Given the description of an element on the screen output the (x, y) to click on. 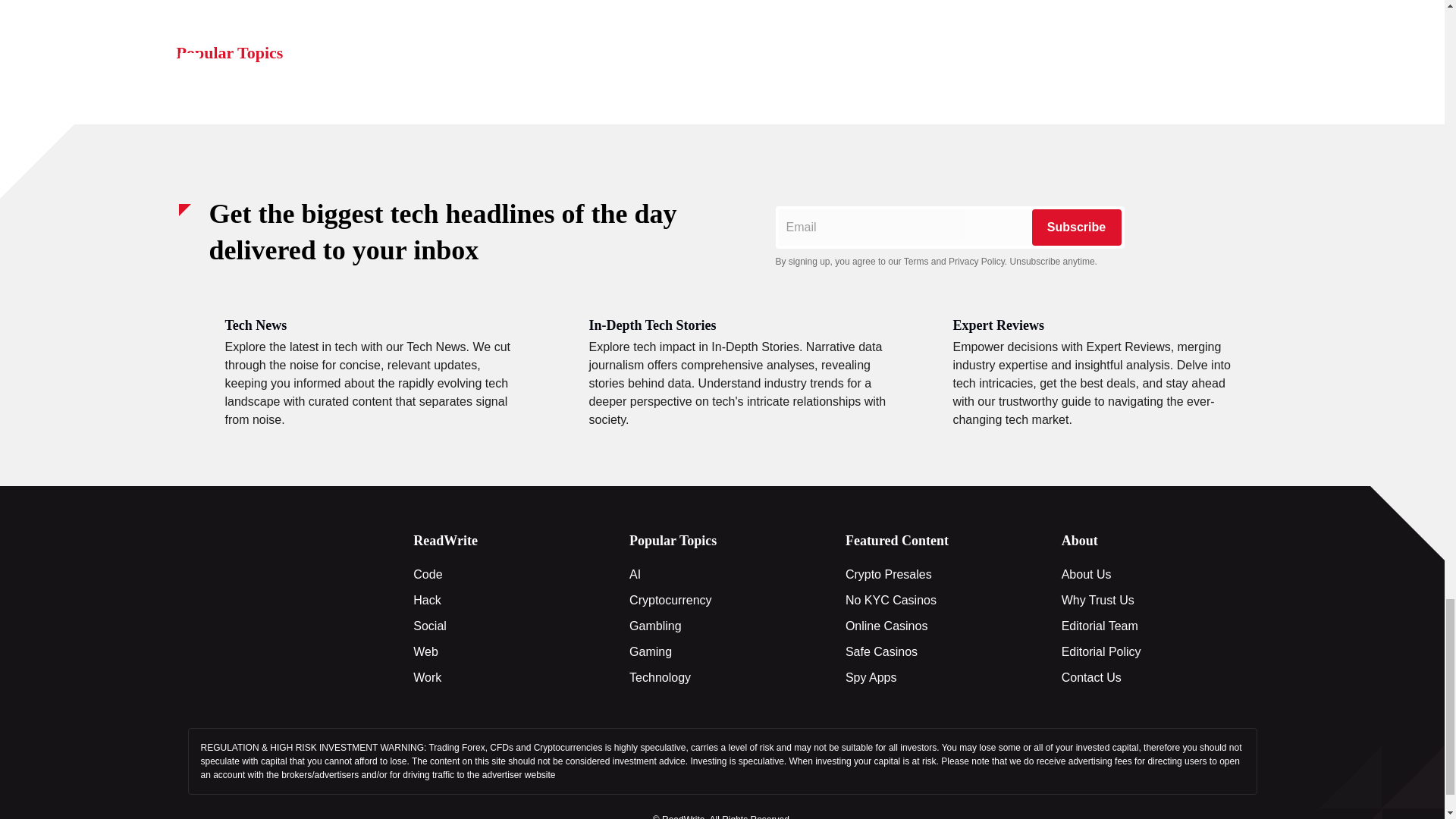
Subscribe (1075, 227)
